Given the description of an element on the screen output the (x, y) to click on. 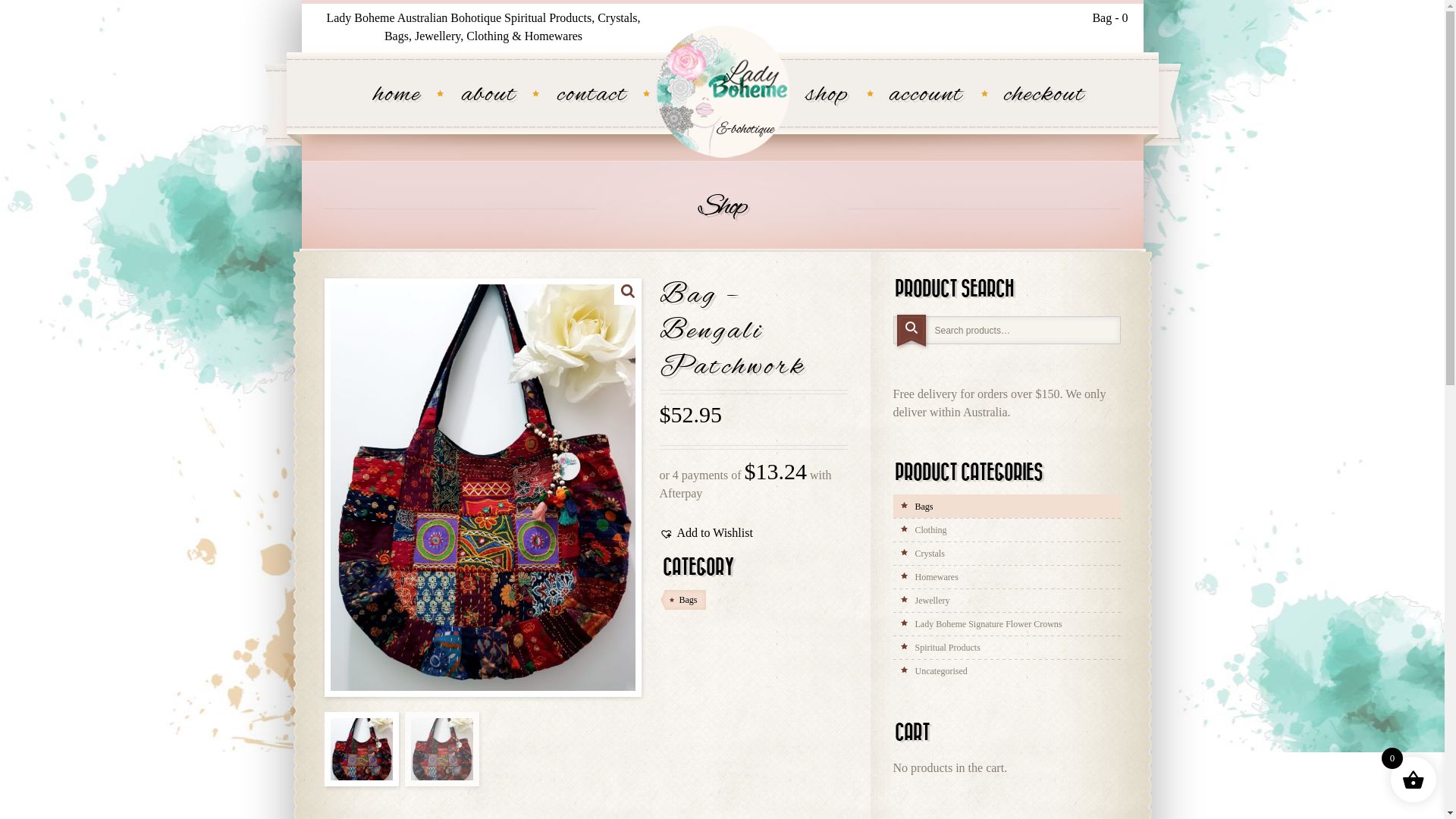
20200401_122832 Element type: hover (787, 487)
Search Element type: text (912, 331)
Spiritual Products Element type: text (1006, 646)
Uncategorised Element type: text (1006, 670)
account Element type: text (925, 95)
shop Element type: text (826, 95)
Clothing Element type: text (1006, 529)
contact Element type: text (591, 95)
checkout Element type: text (1044, 95)
Bags Element type: text (682, 599)
Bags Element type: text (1006, 505)
Crystals Element type: text (1006, 552)
Homewares Element type: text (1006, 576)
Lady Boheme Signature Flower Crowns Element type: text (1006, 623)
Add to Wishlist Element type: text (706, 533)
about Element type: text (488, 95)
Jewellery Element type: text (1006, 599)
20200401_122832 Element type: hover (482, 487)
home Element type: text (396, 95)
